Given the description of an element on the screen output the (x, y) to click on. 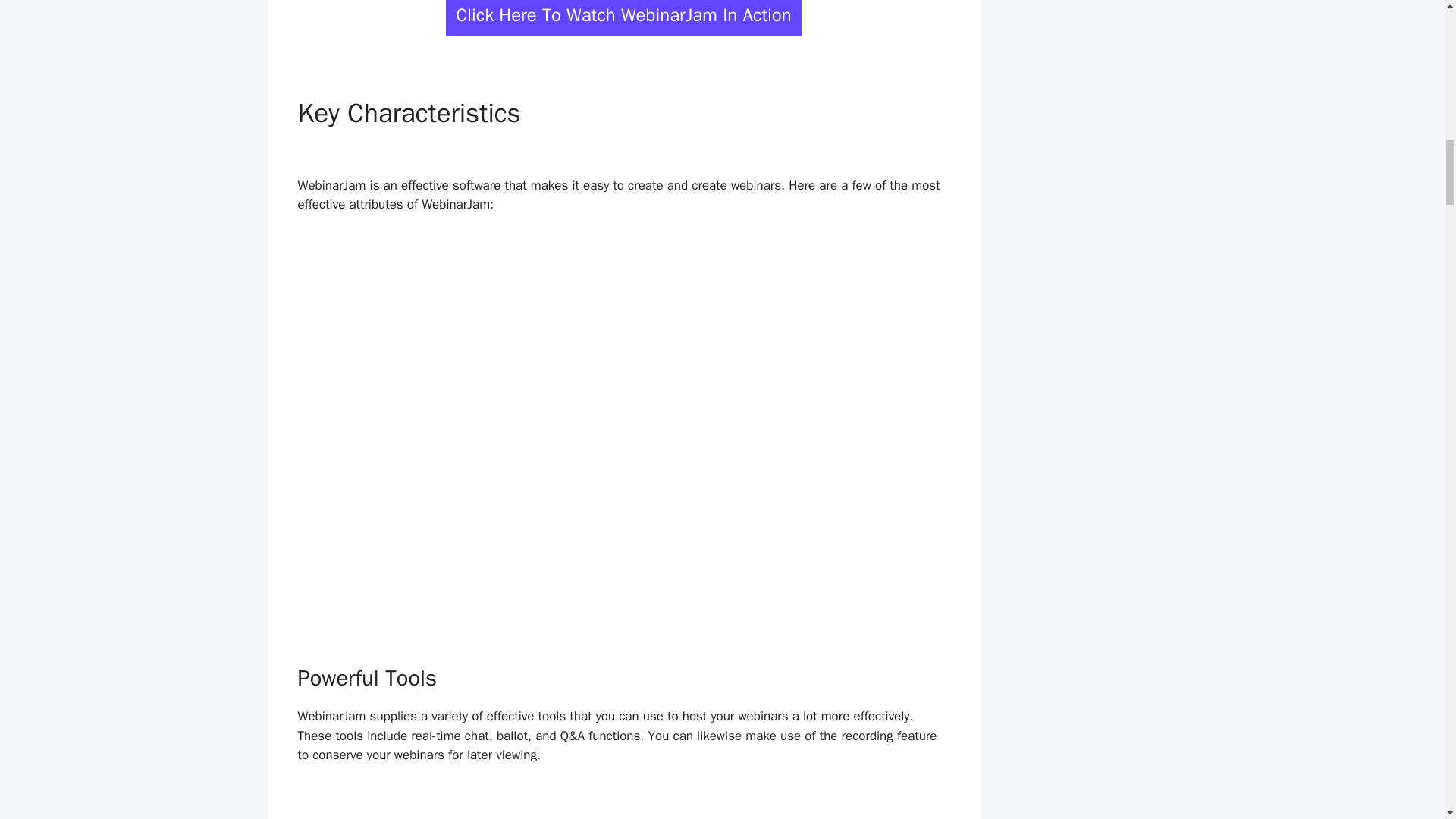
Click Here To Watch WebinarJam In Action (622, 18)
